Given the description of an element on the screen output the (x, y) to click on. 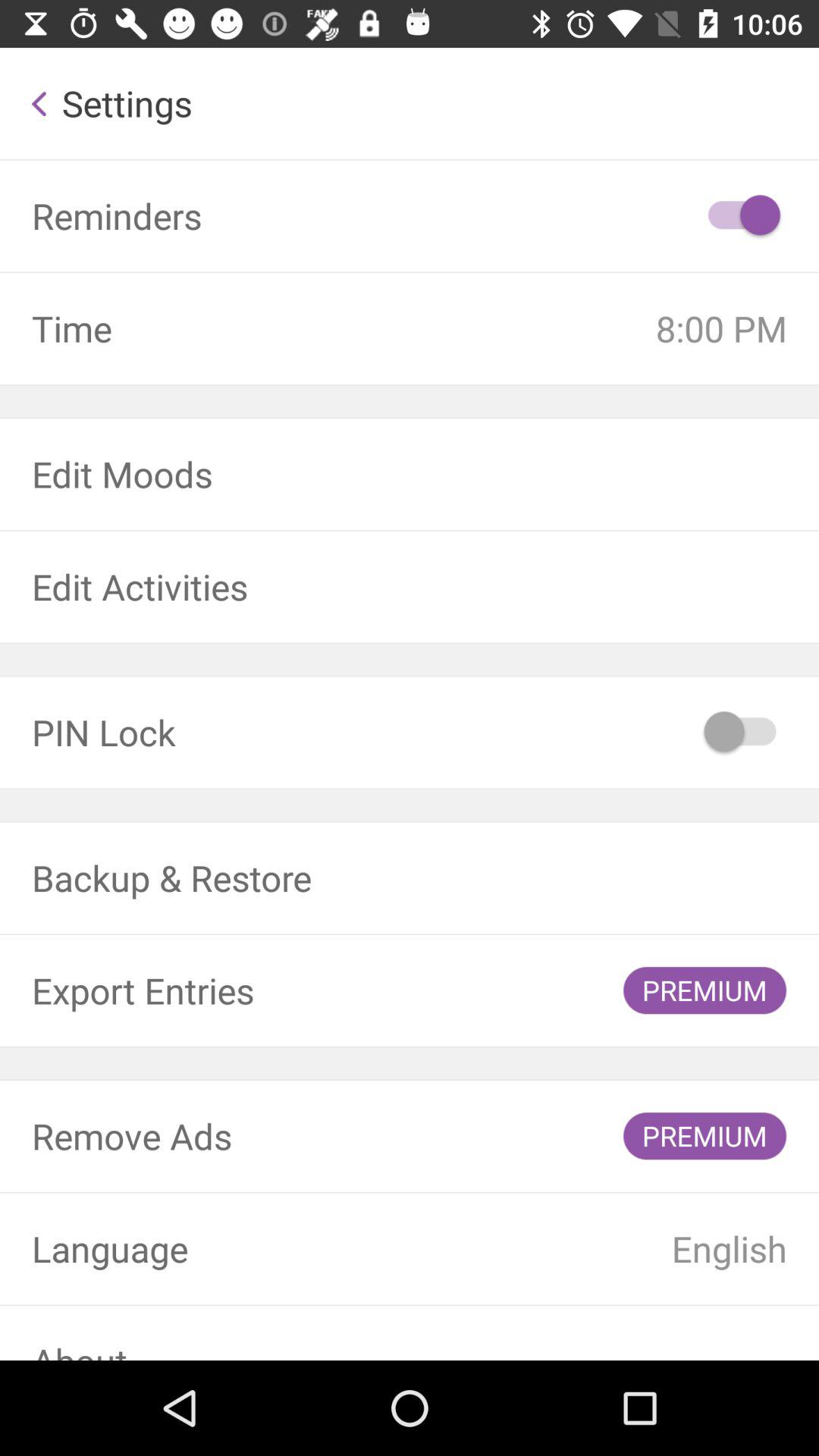
toggle pin lock on/off (742, 732)
